Given the description of an element on the screen output the (x, y) to click on. 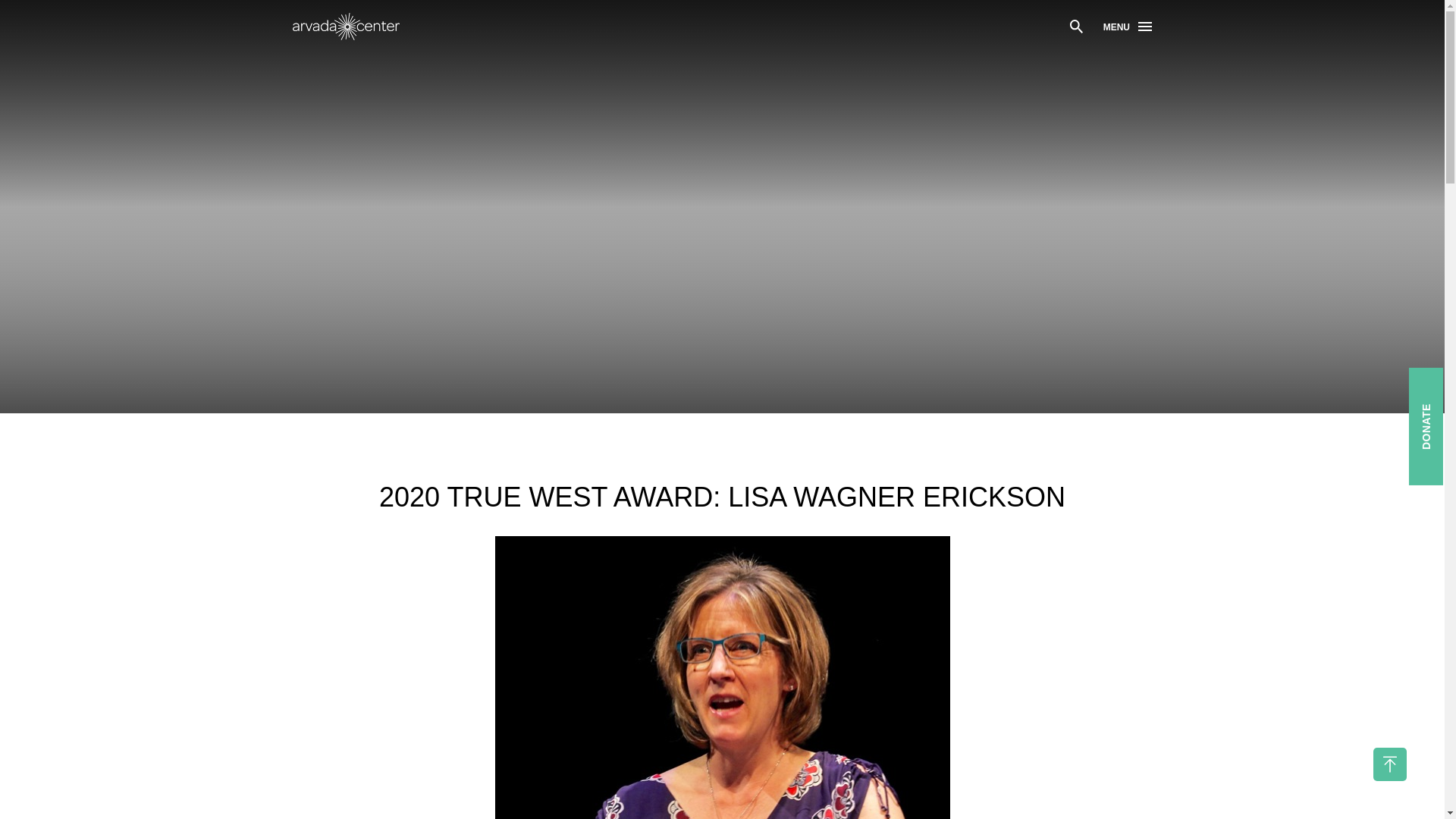
MENU (1127, 26)
